Given the description of an element on the screen output the (x, y) to click on. 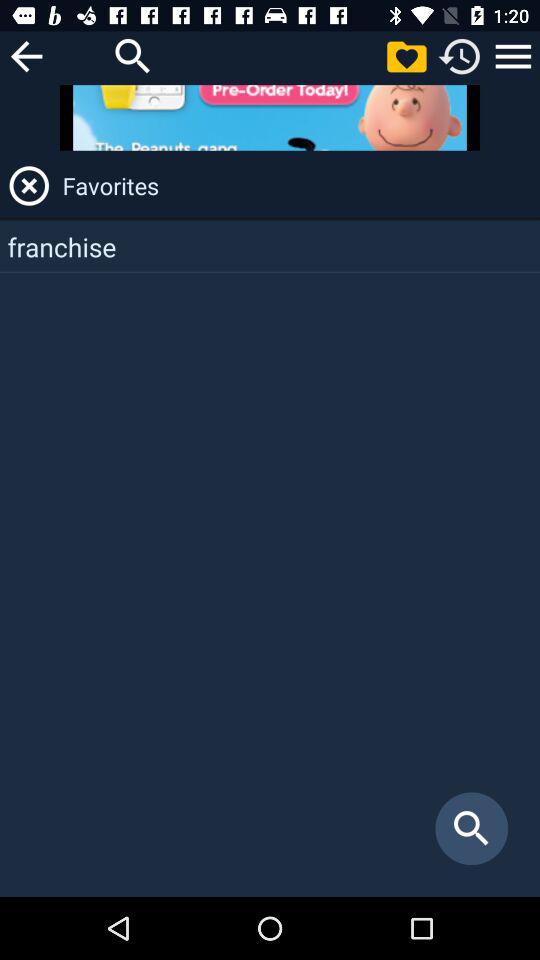
close the window (29, 185)
